Given the description of an element on the screen output the (x, y) to click on. 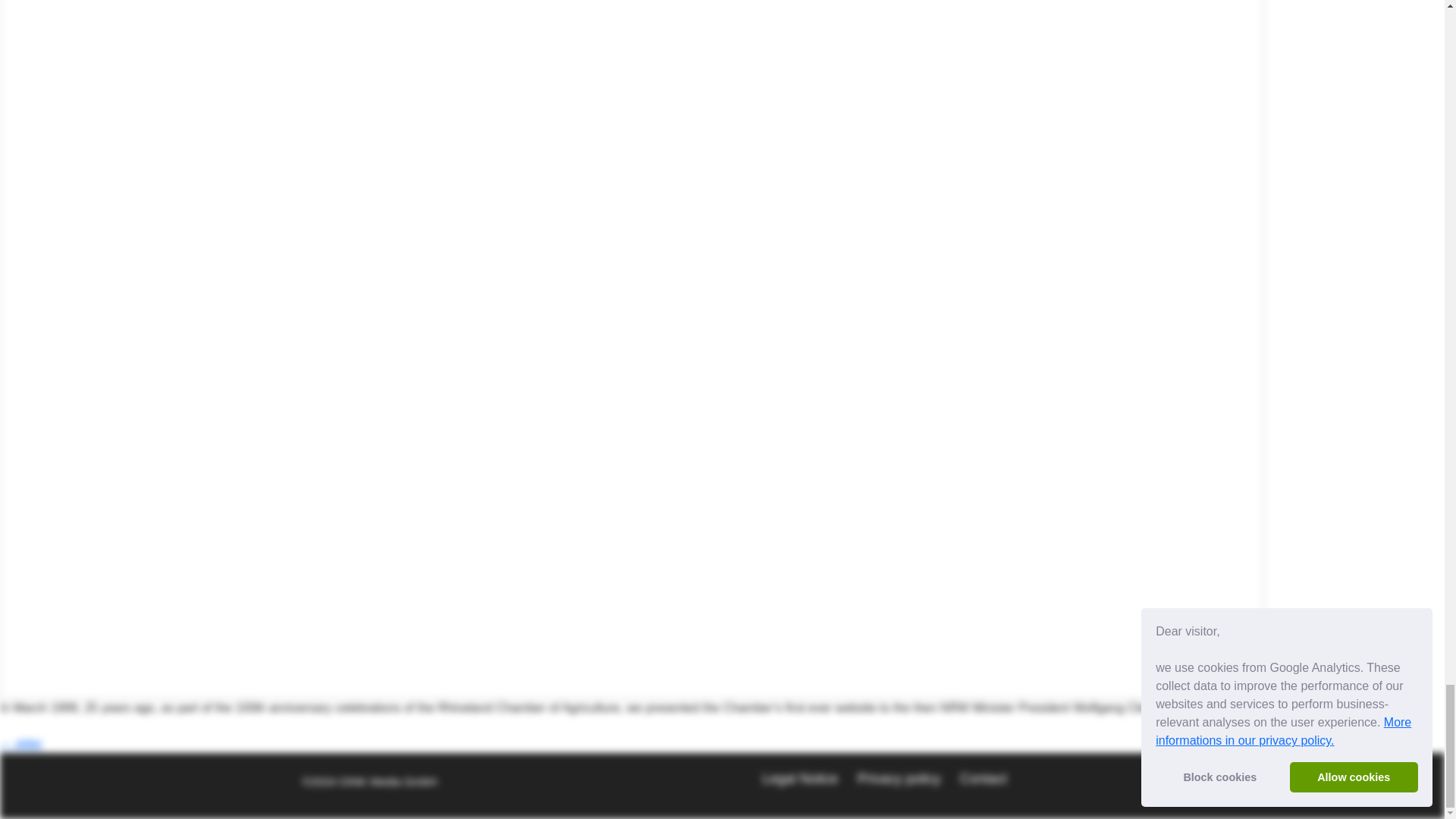
Privacy policy (898, 778)
Legal Notice (799, 778)
Contact (983, 778)
